Given the description of an element on the screen output the (x, y) to click on. 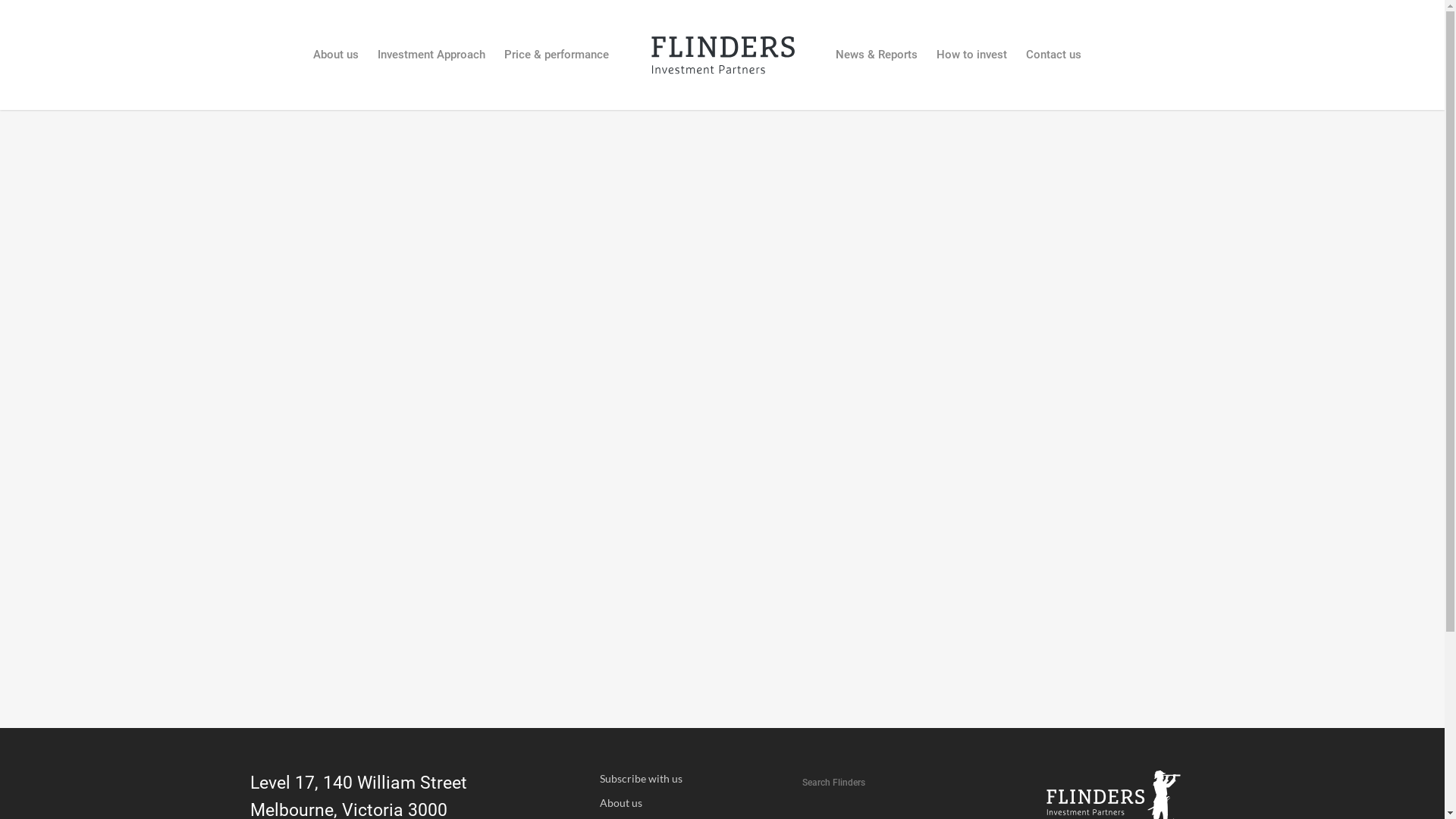
About us Element type: text (335, 65)
Subscribe with us Element type: text (691, 778)
Price & performance Element type: text (556, 65)
Investment Approach Element type: text (431, 65)
Contact us Element type: text (1053, 65)
About us Element type: text (691, 802)
News & Reports Element type: text (876, 65)
How to invest Element type: text (971, 65)
